Given the description of an element on the screen output the (x, y) to click on. 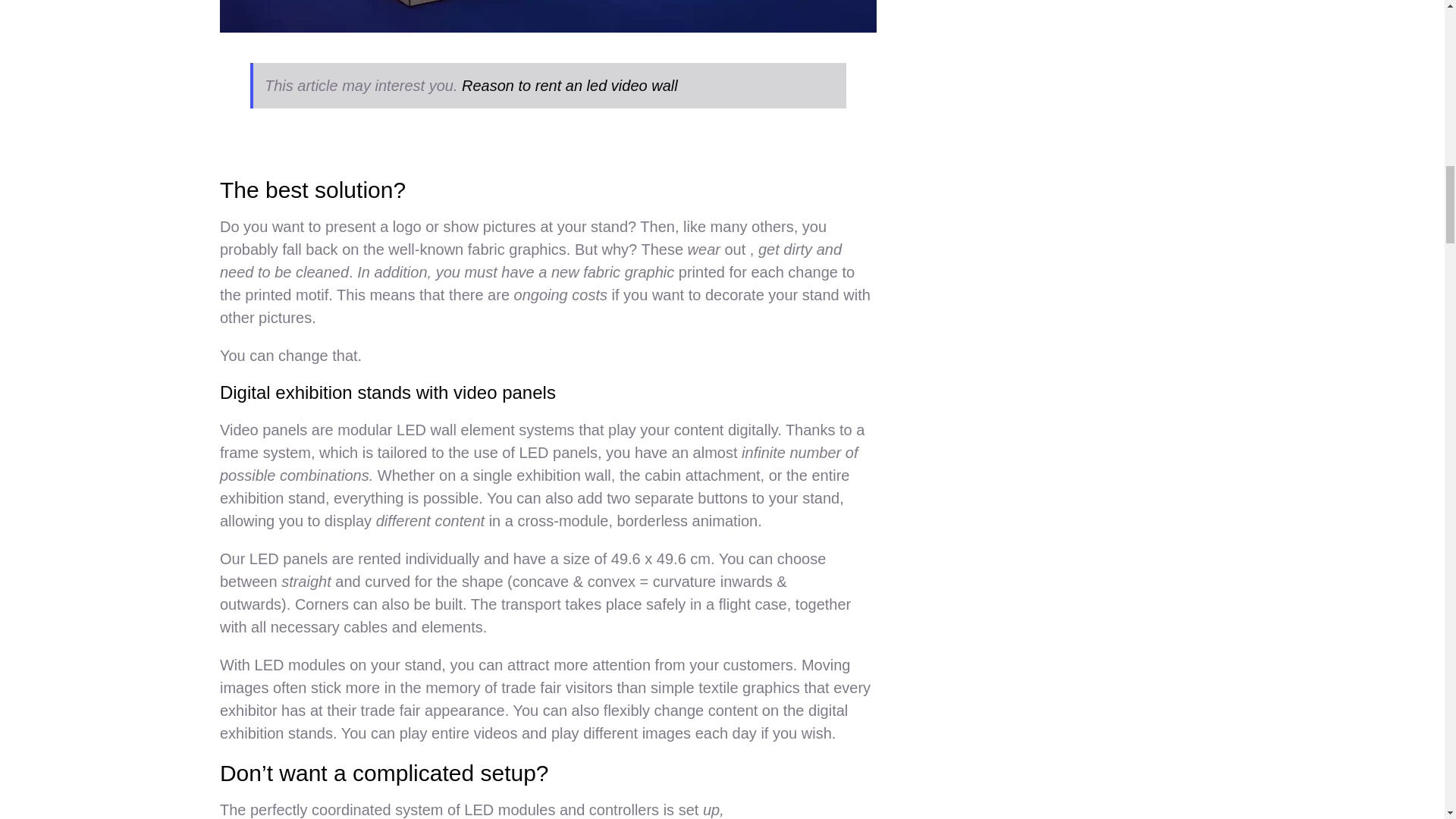
Reason to rent an led video wall (569, 85)
Advantages and disadvantages of digital exhibition stands 2 (547, 16)
